Given the description of an element on the screen output the (x, y) to click on. 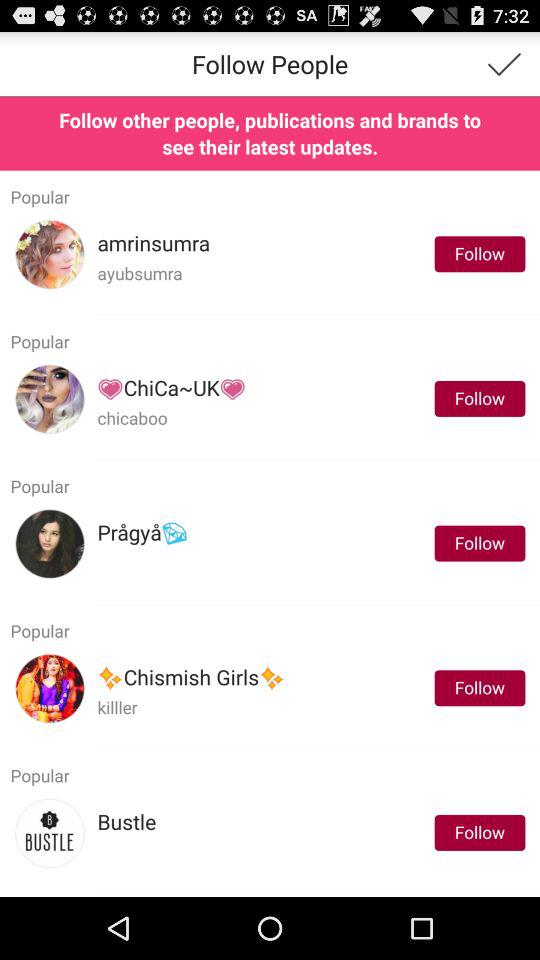
select the killler app (117, 706)
